Given the description of an element on the screen output the (x, y) to click on. 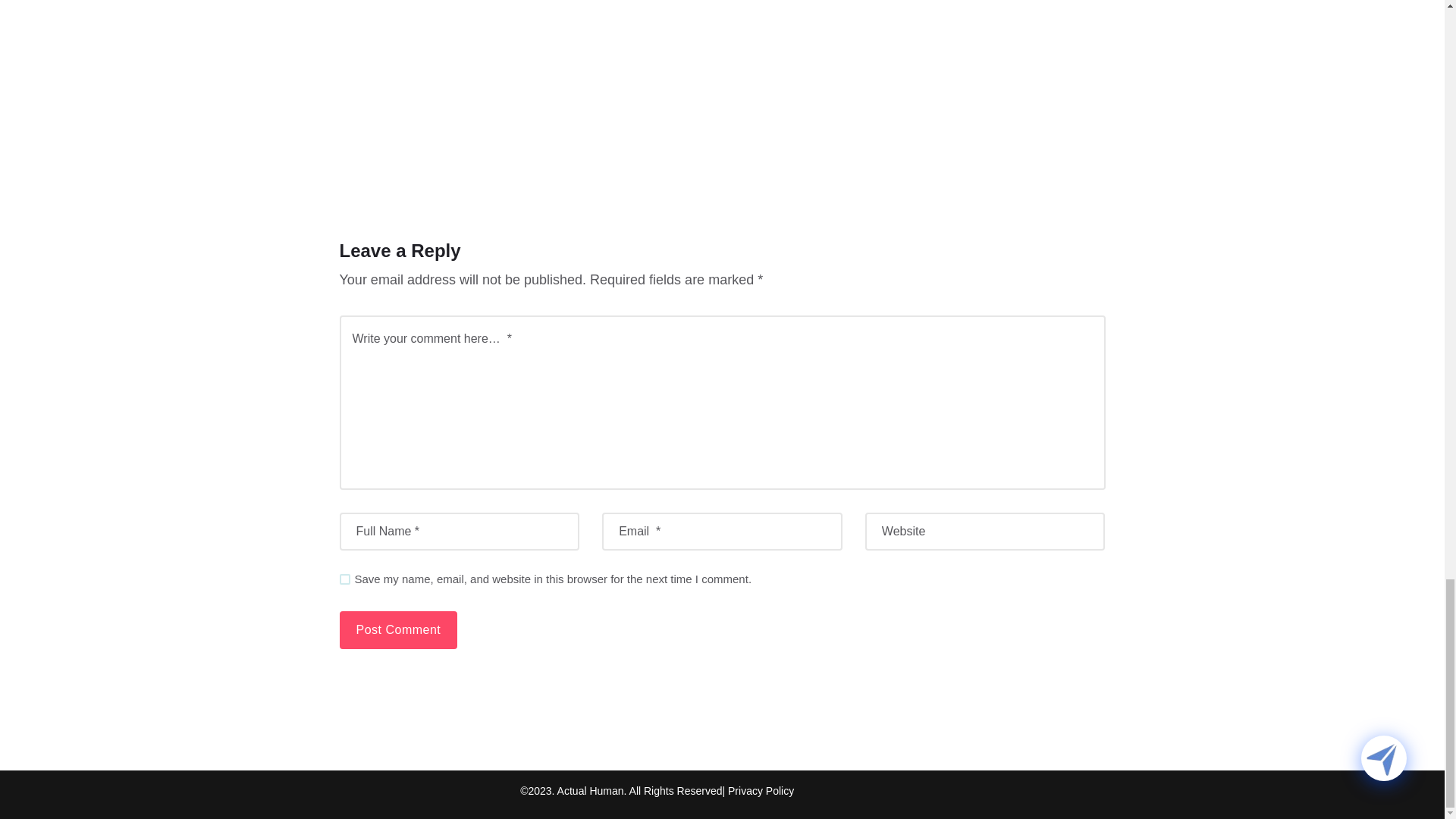
Post Comment (398, 629)
Post Comment (398, 629)
